Given the description of an element on the screen output the (x, y) to click on. 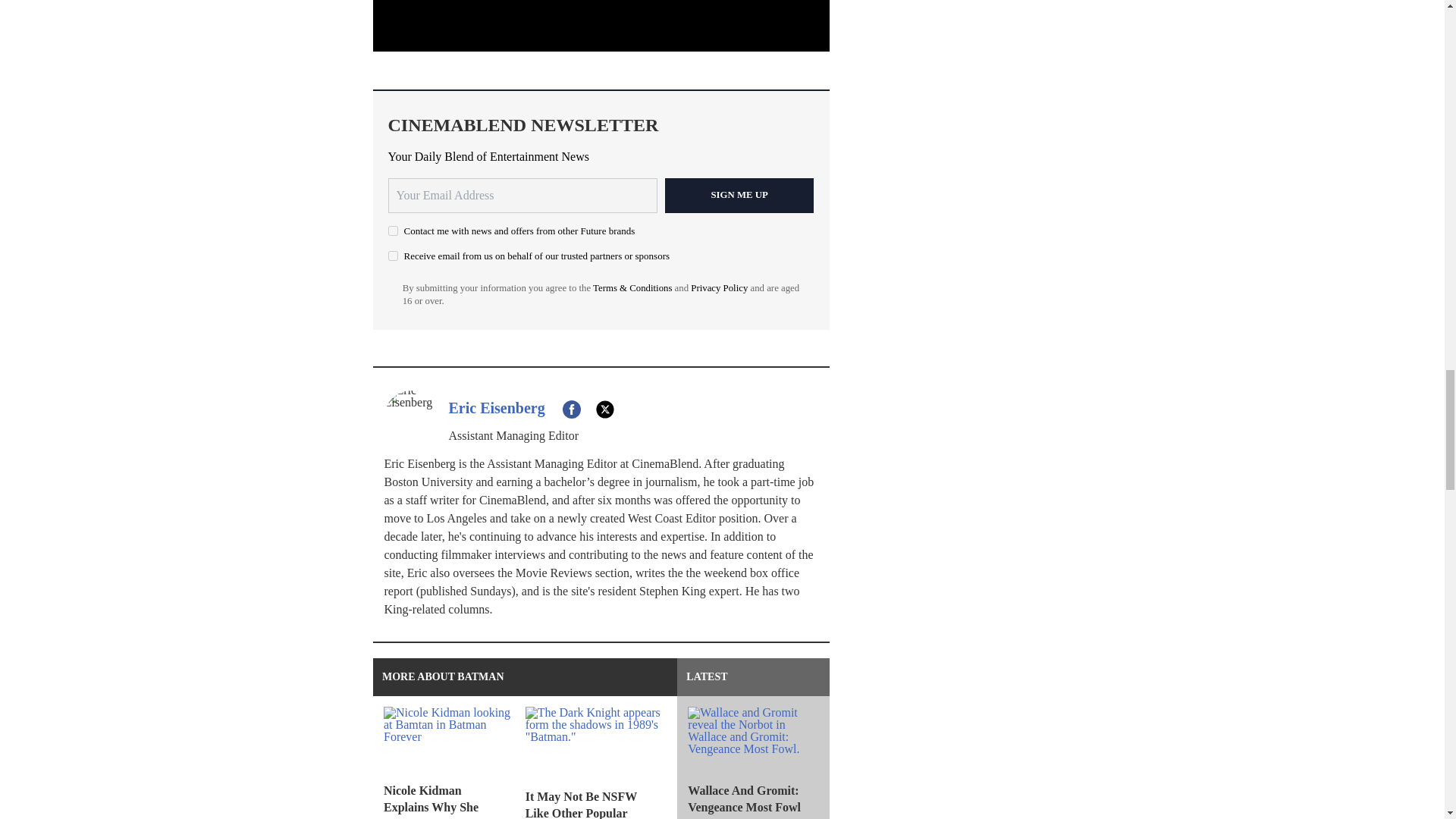
on (392, 255)
on (392, 230)
Sign me up (739, 195)
